Given the description of an element on the screen output the (x, y) to click on. 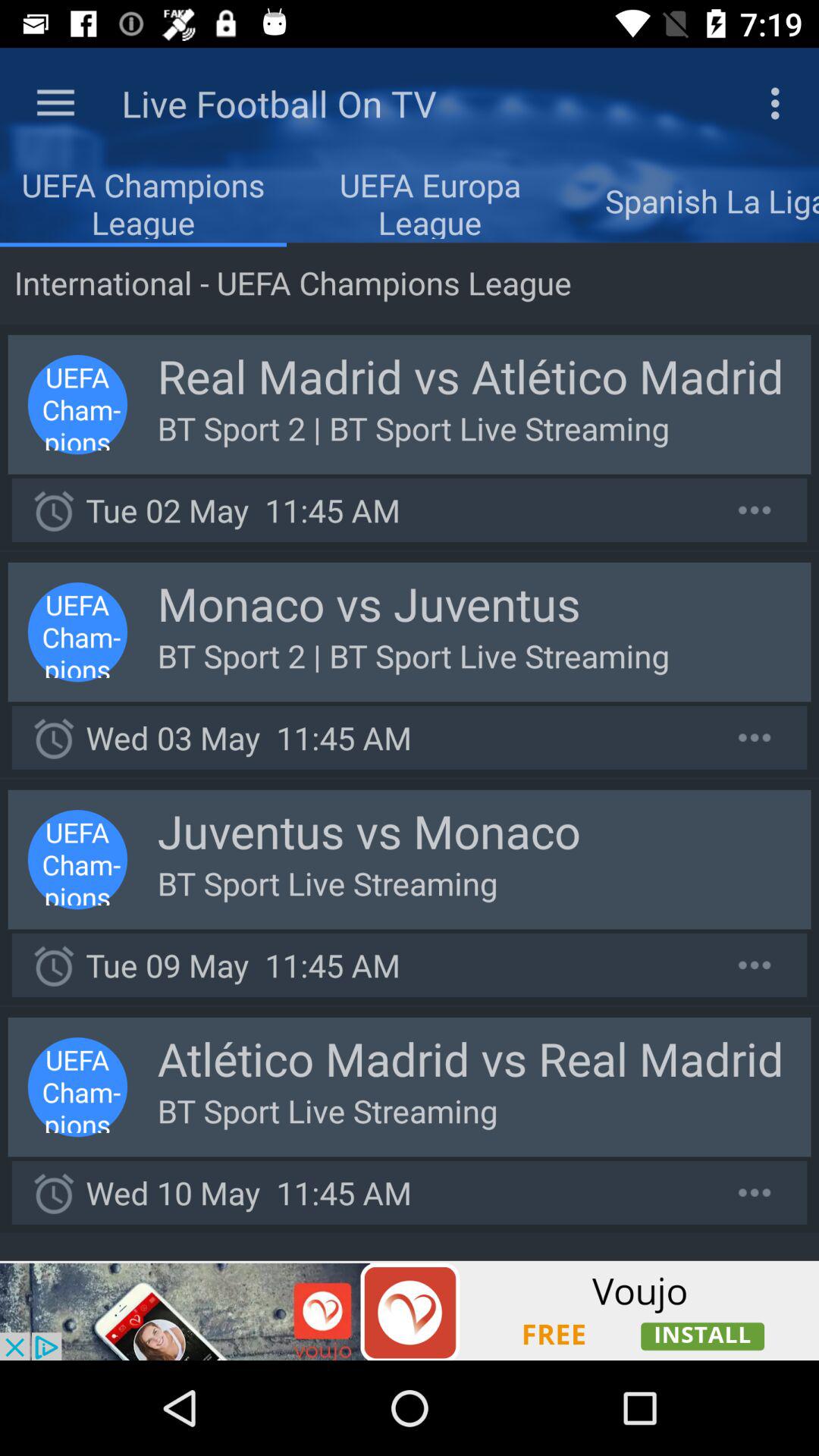
setting option (755, 965)
